Given the description of an element on the screen output the (x, y) to click on. 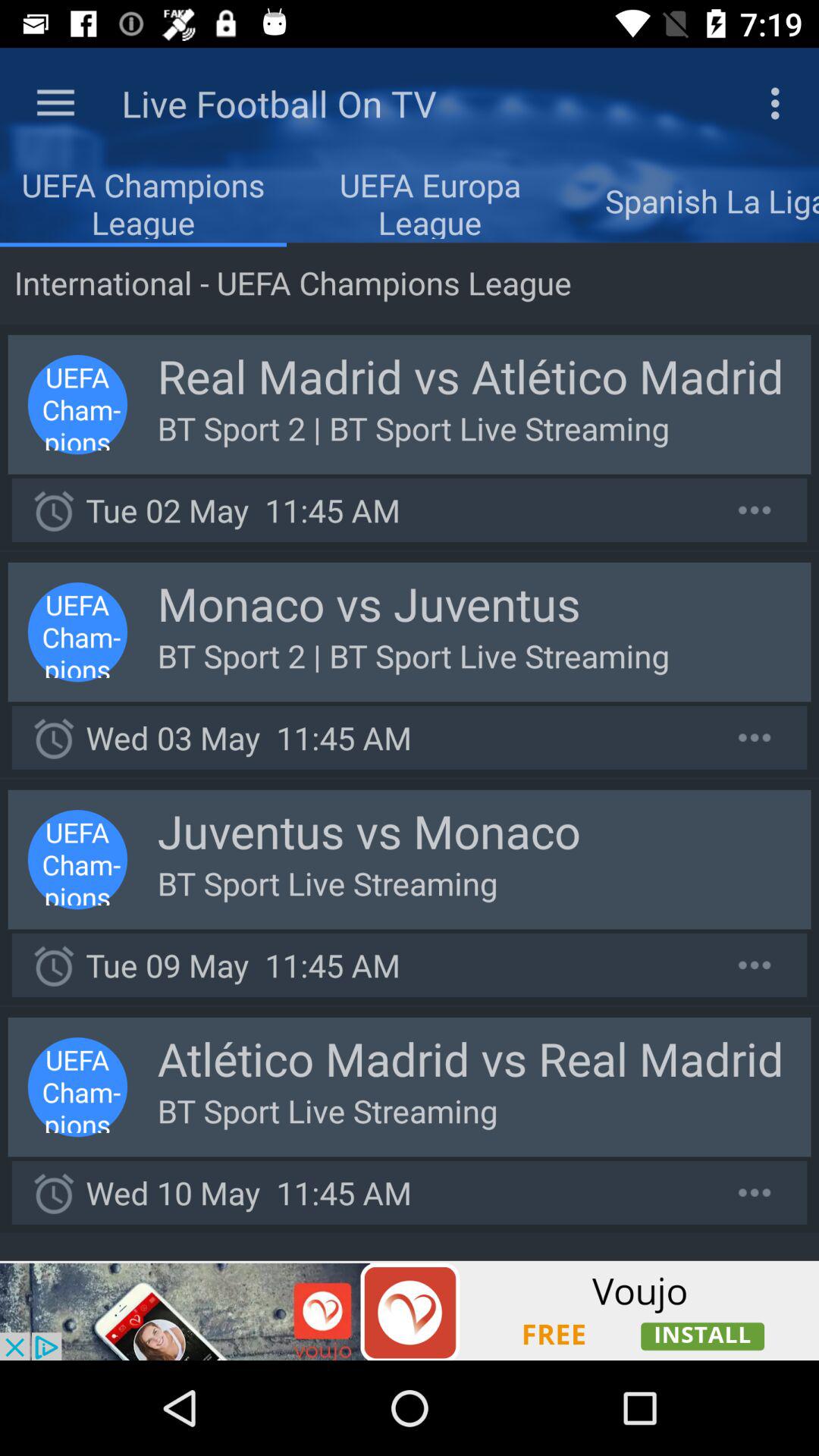
setting option (755, 965)
